Given the description of an element on the screen output the (x, y) to click on. 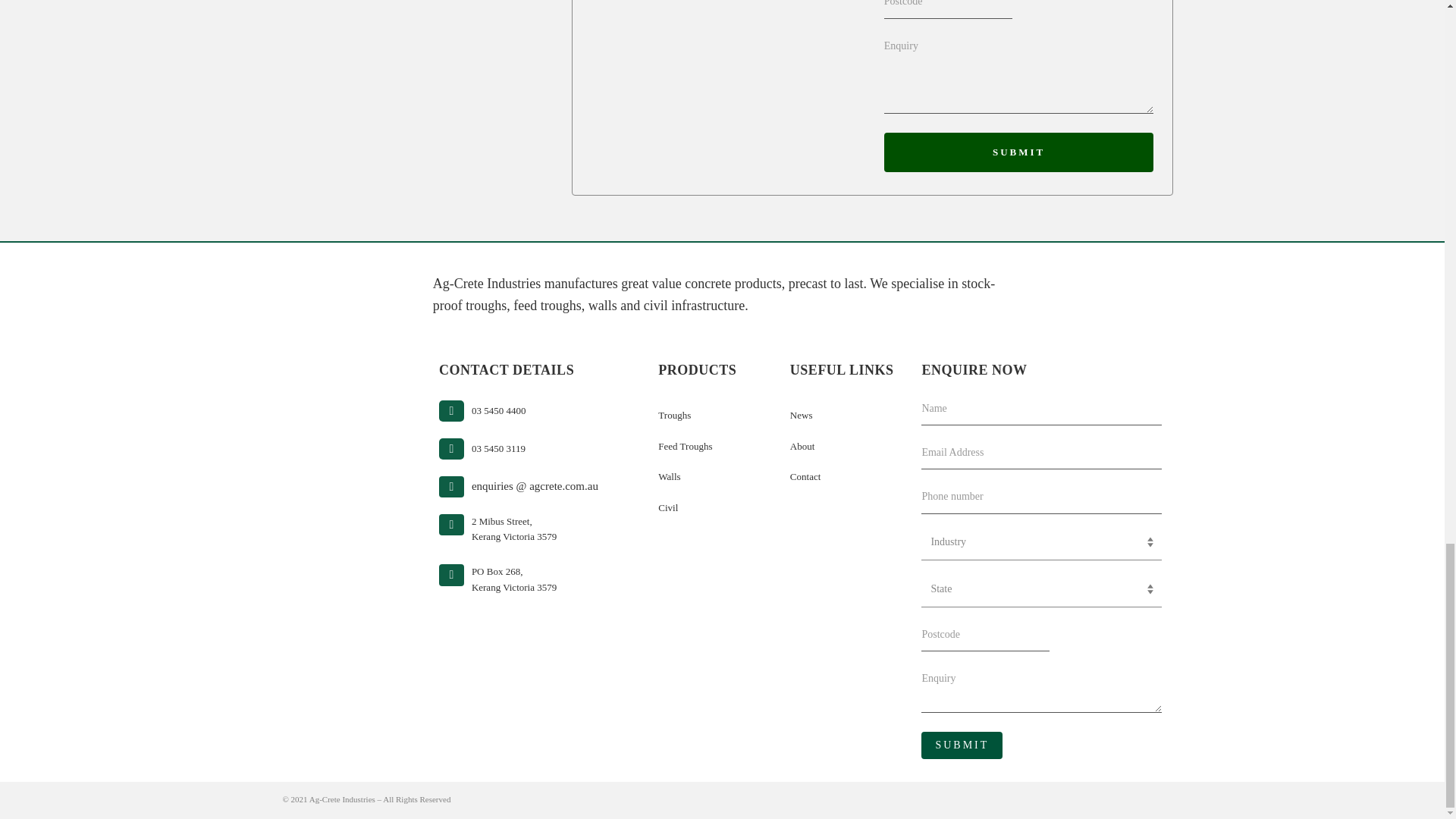
SUBMIT (513, 528)
Troughs (1018, 151)
Civil (674, 414)
News (668, 507)
03 5450 4400 (801, 414)
Feed Troughs (498, 410)
Contact (684, 445)
SUBMIT (805, 476)
Walls (962, 745)
